Given the description of an element on the screen output the (x, y) to click on. 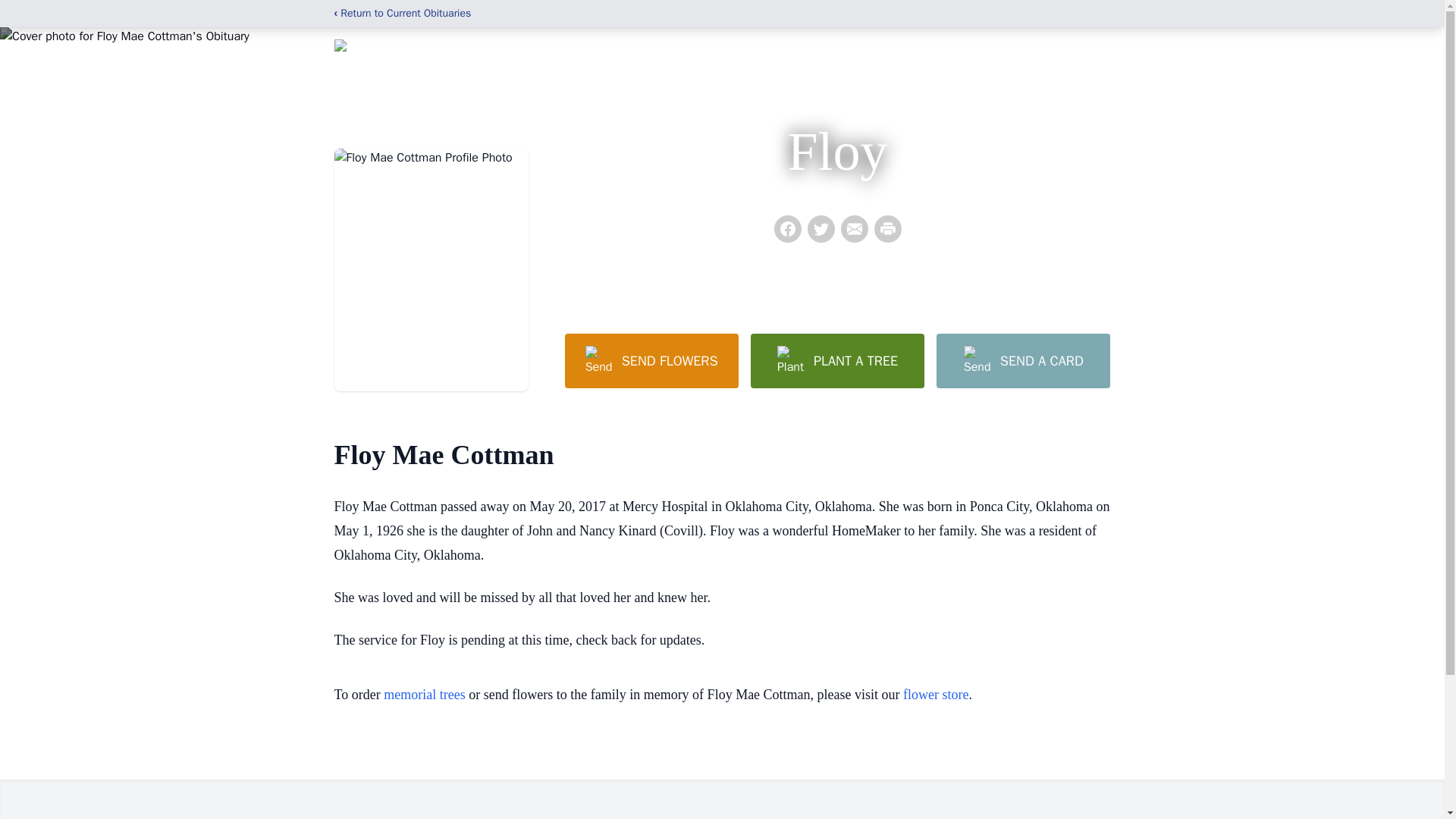
PLANT A TREE (837, 360)
SEND FLOWERS (651, 360)
memorial trees (424, 694)
SEND A CARD (1022, 360)
flower store (935, 694)
